Given the description of an element on the screen output the (x, y) to click on. 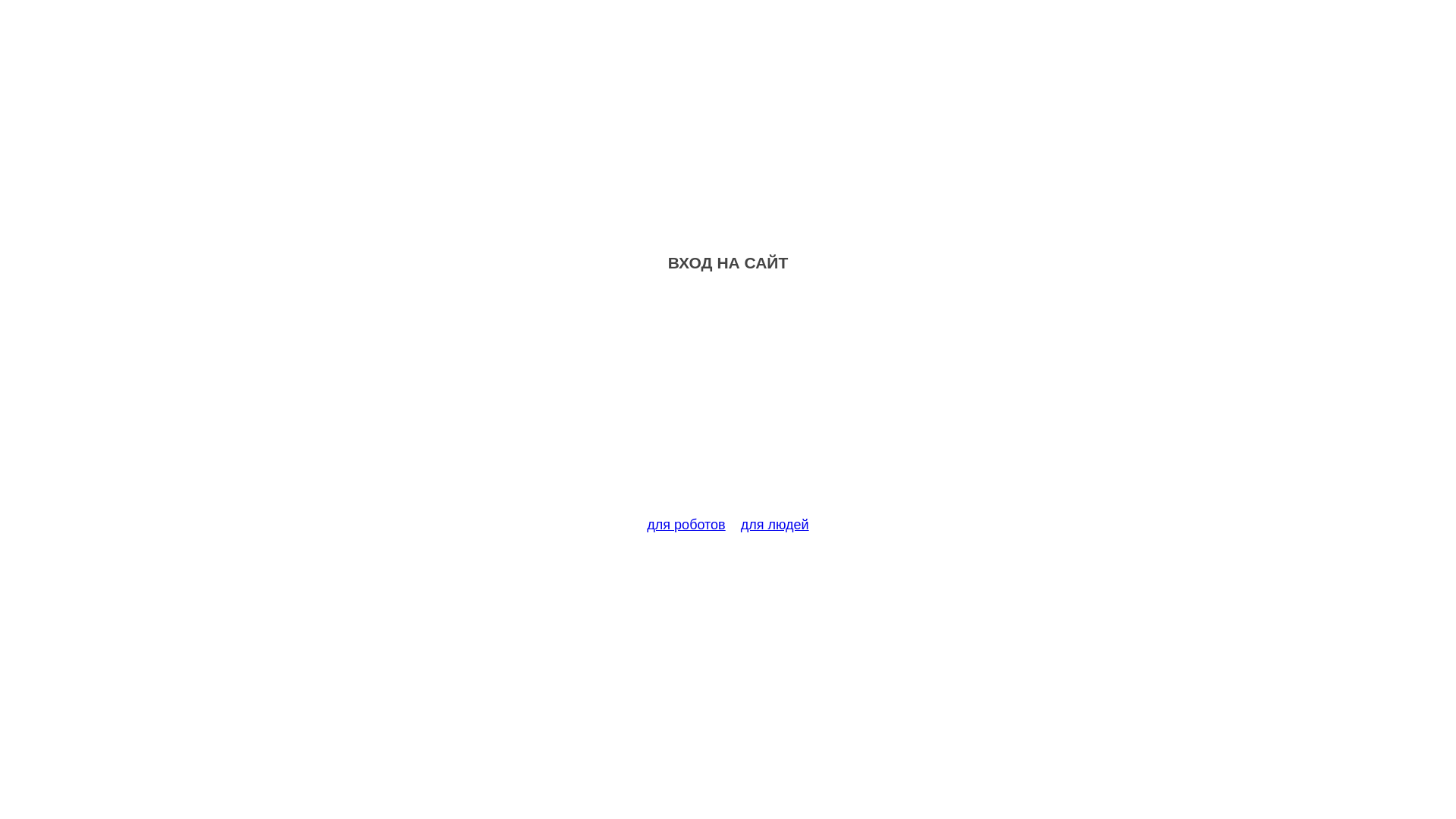
Advertisement Element type: hover (727, 403)
